Given the description of an element on the screen output the (x, y) to click on. 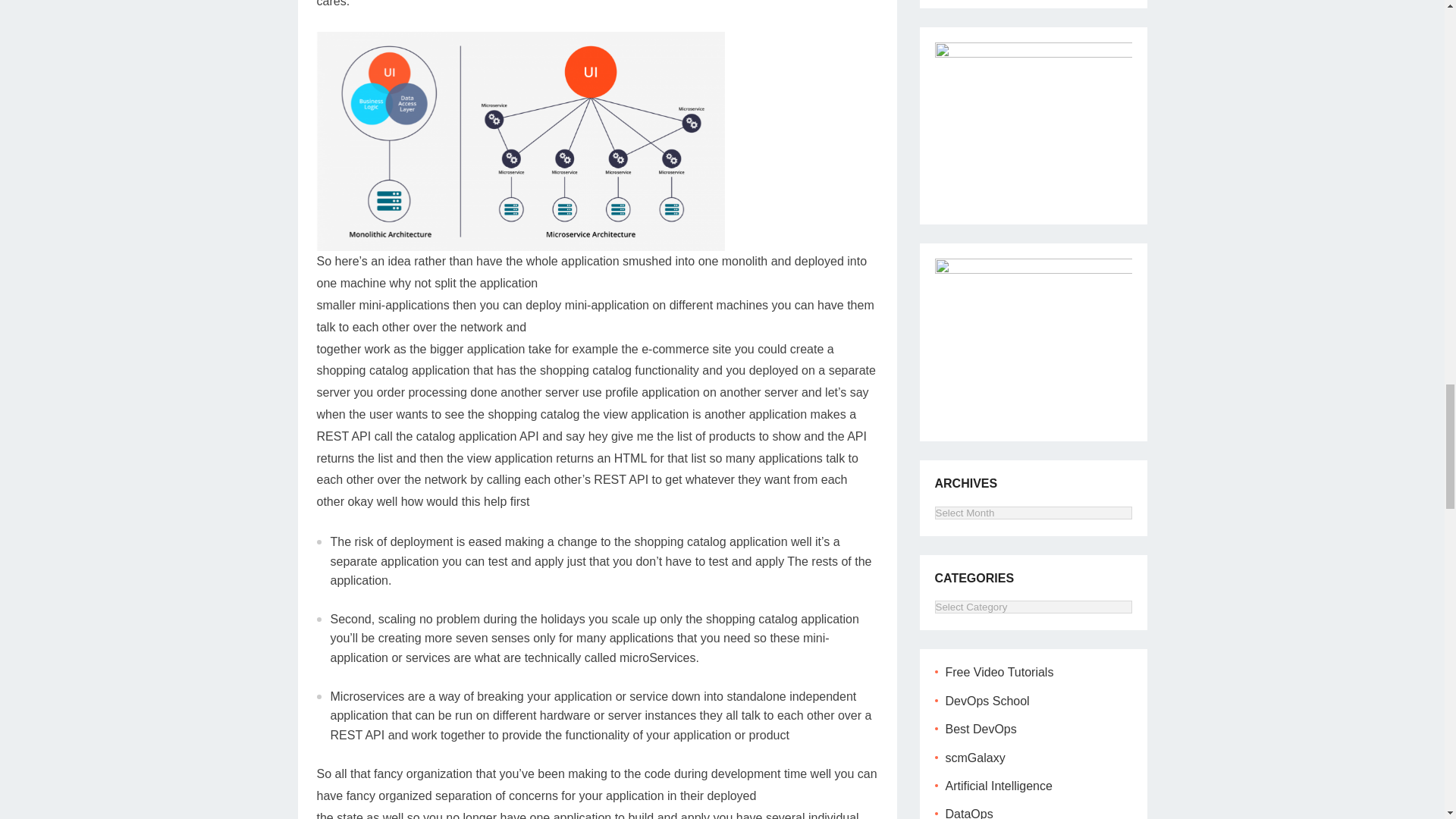
Free Video Tutorials (998, 671)
